Given the description of an element on the screen output the (x, y) to click on. 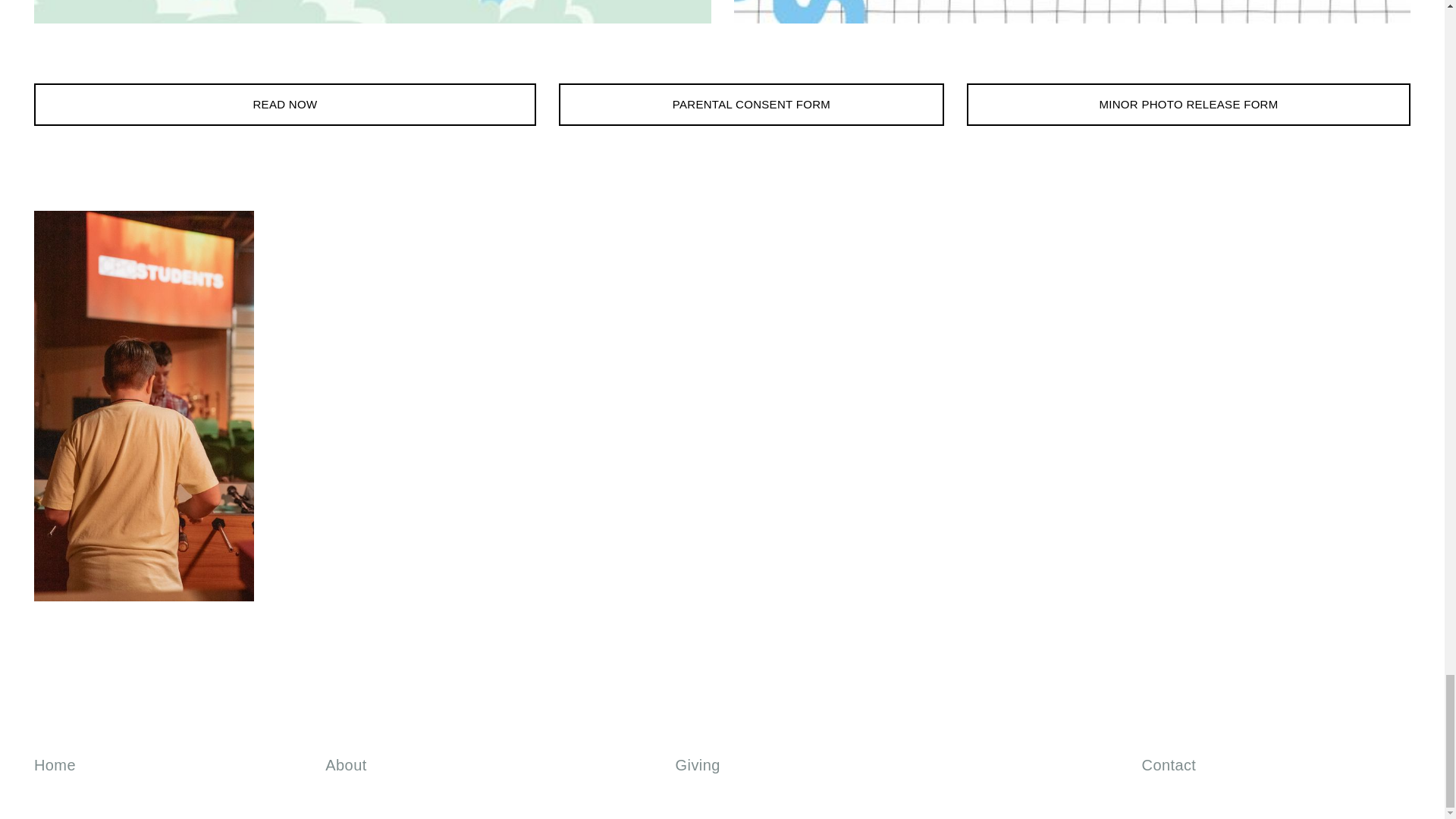
Home (54, 764)
PARENTAL CONSENT FORM (751, 104)
READ NOW (284, 104)
Contact (1168, 764)
MINOR PHOTO RELEASE FORM (1188, 104)
About (345, 764)
Giving (697, 764)
